Given the description of an element on the screen output the (x, y) to click on. 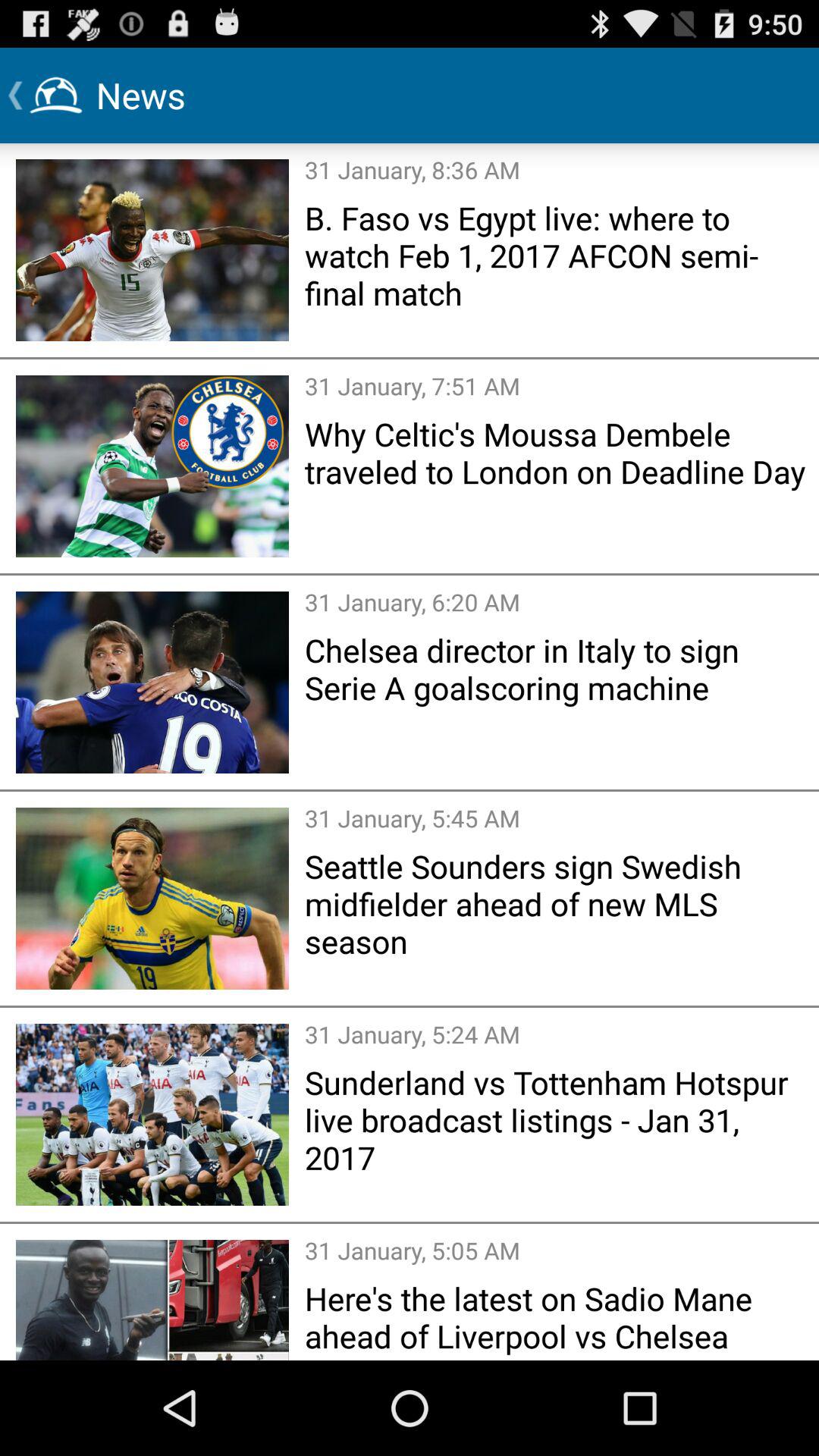
turn on icon above the 31 january 5 item (556, 668)
